Given the description of an element on the screen output the (x, y) to click on. 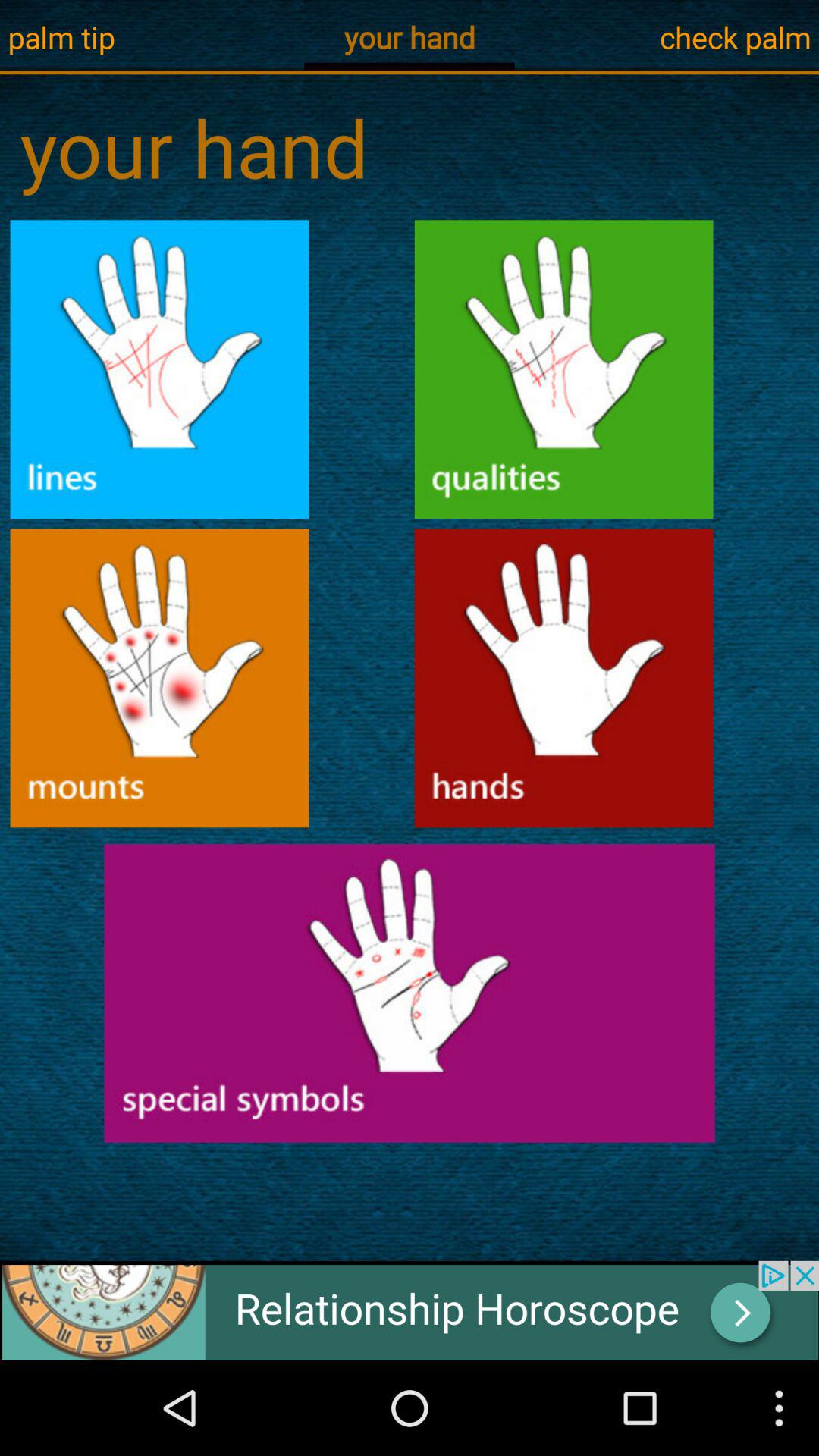
select the add image (409, 1310)
